Given the description of an element on the screen output the (x, y) to click on. 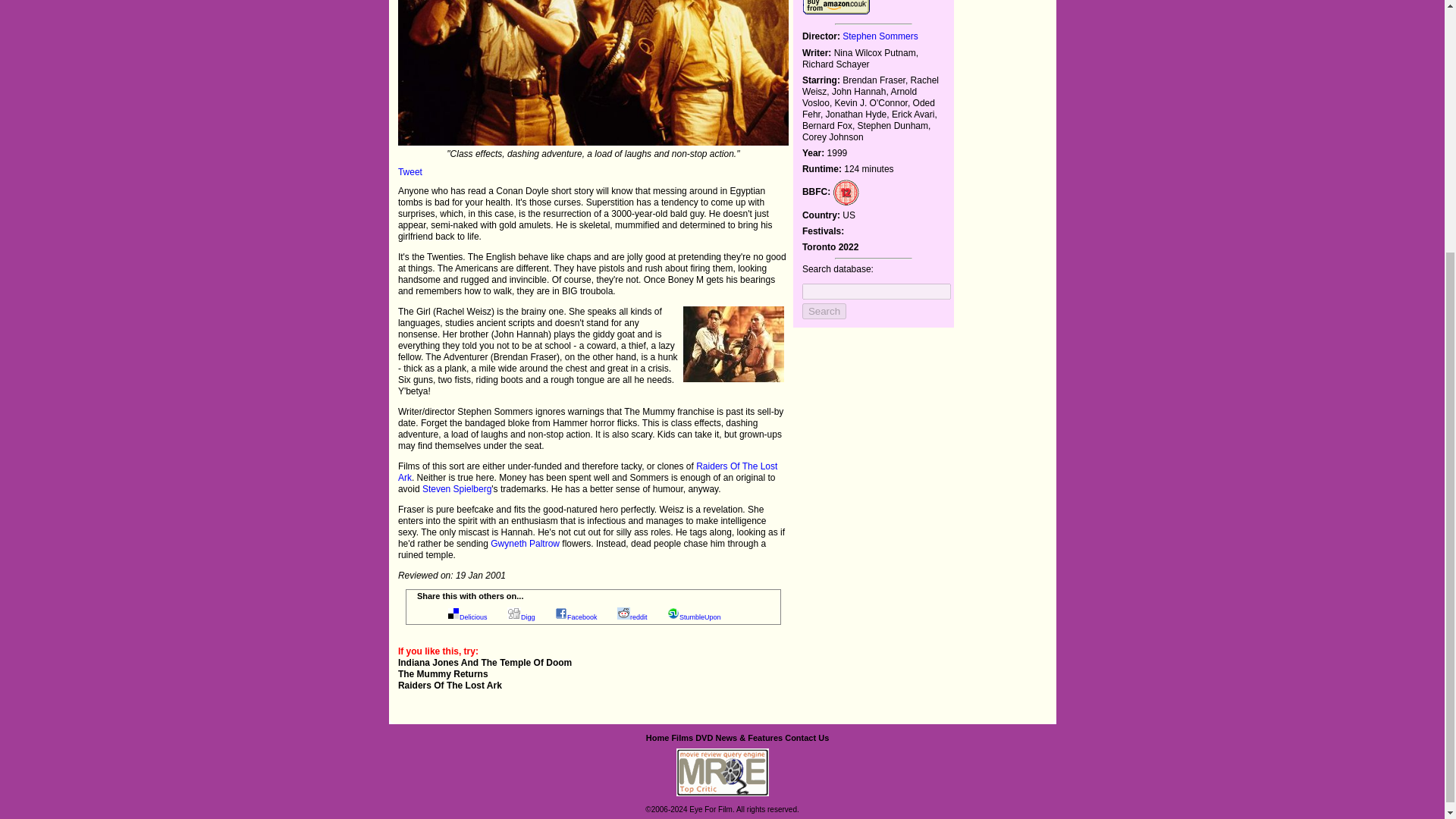
Gwyneth Paltrow (524, 543)
Post this to reddit (638, 616)
Search (823, 311)
Post this to Delicious (473, 616)
Post this to Digg (528, 616)
Post this to StumbleUpon (699, 616)
Delicious (473, 616)
Raiders Of The Lost Ark (587, 472)
Tweet (409, 172)
Post this to Facebook (581, 616)
Search (823, 311)
reddit (638, 616)
StumbleUpon (699, 616)
Digg (528, 616)
Stephen Sommers (880, 36)
